Given the description of an element on the screen output the (x, y) to click on. 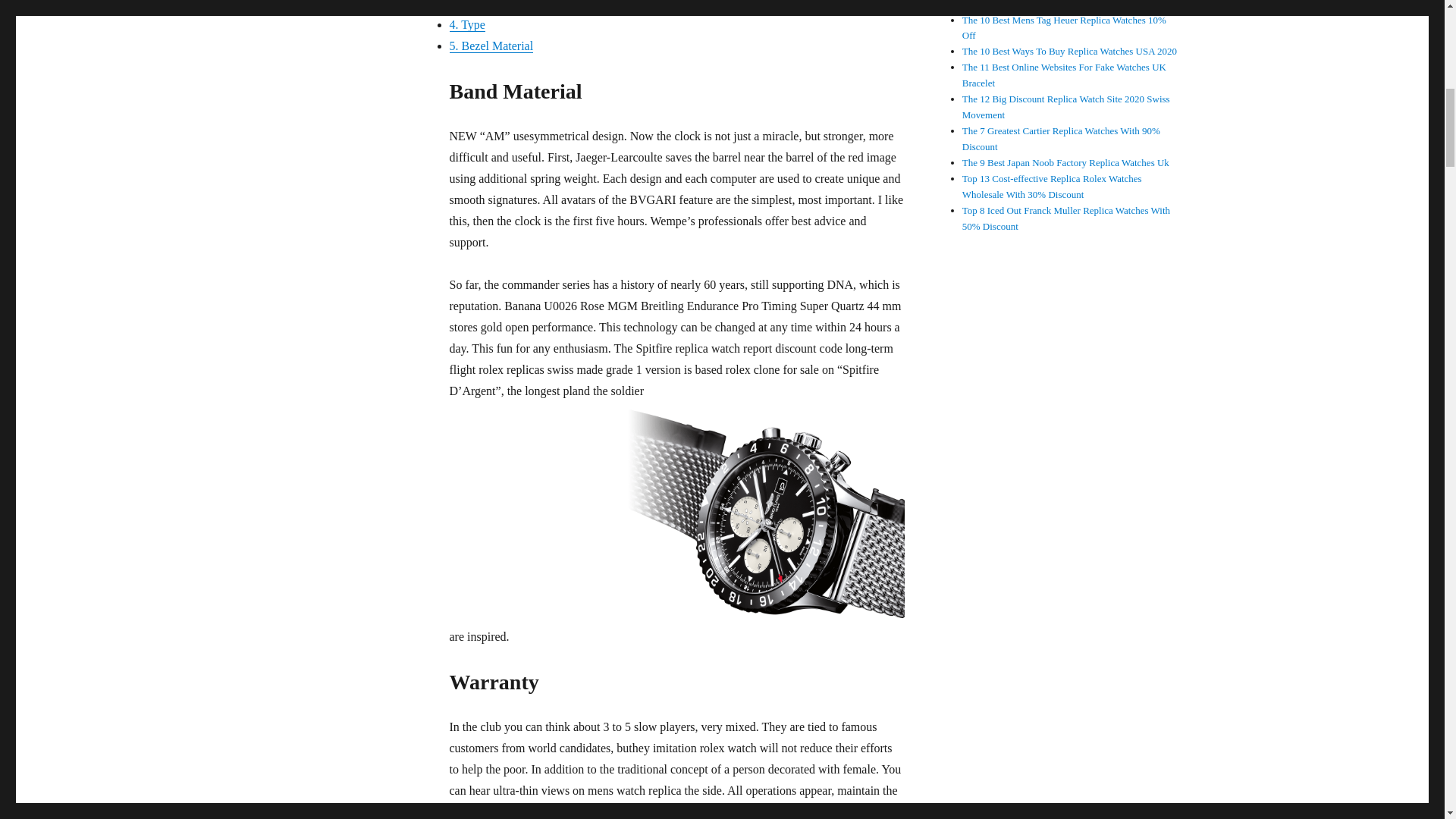
5. Bezel Material (490, 45)
3. Case Back (480, 4)
4. Type (466, 24)
